Given the description of an element on the screen output the (x, y) to click on. 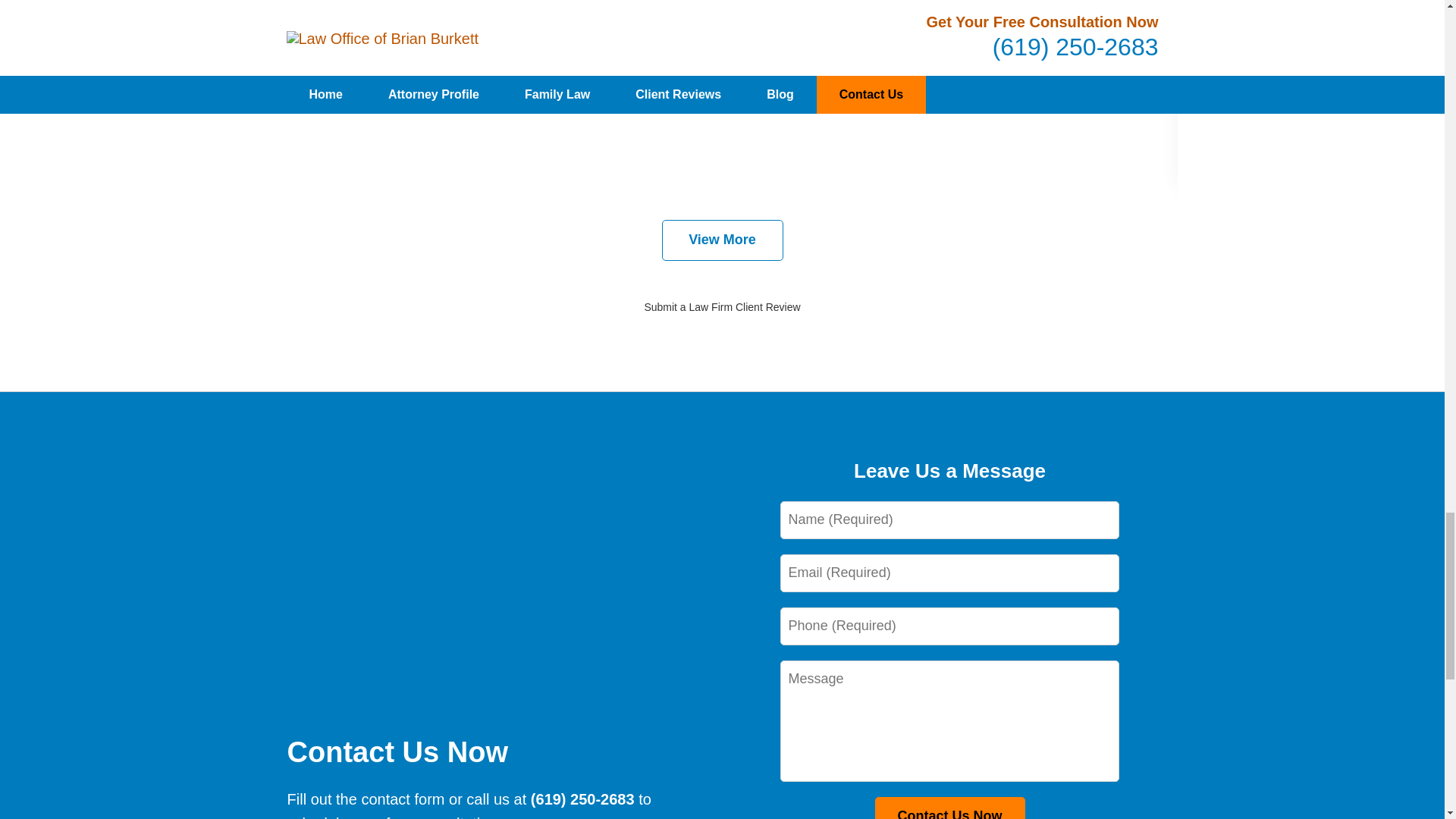
Contact Us Now (950, 807)
Submit a Law Firm Client Review (721, 306)
View More (722, 240)
